Given the description of an element on the screen output the (x, y) to click on. 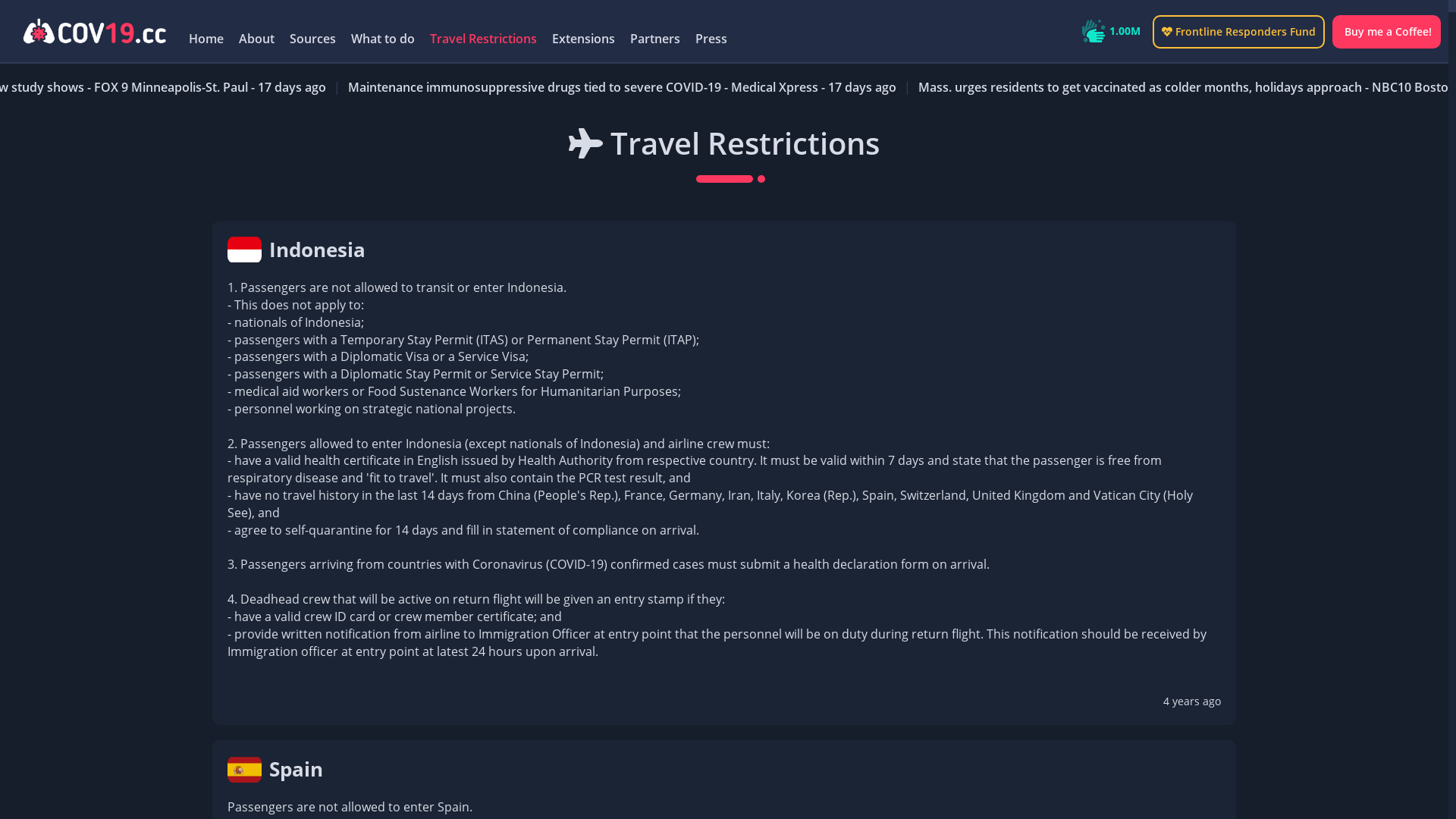
1.00M Element type: text (1110, 31)
Frontline Responders Fund Element type: text (1238, 31)
Home Element type: text (205, 38)
Sources Element type: text (312, 38)
Travel Restrictions Element type: text (482, 38)
Press Element type: text (711, 38)
What to do Element type: text (382, 38)
Buy me a Coffee! Element type: text (1386, 31)
About Element type: text (256, 38)
Partners Element type: text (655, 38)
Extensions Element type: text (583, 38)
